Given the description of an element on the screen output the (x, y) to click on. 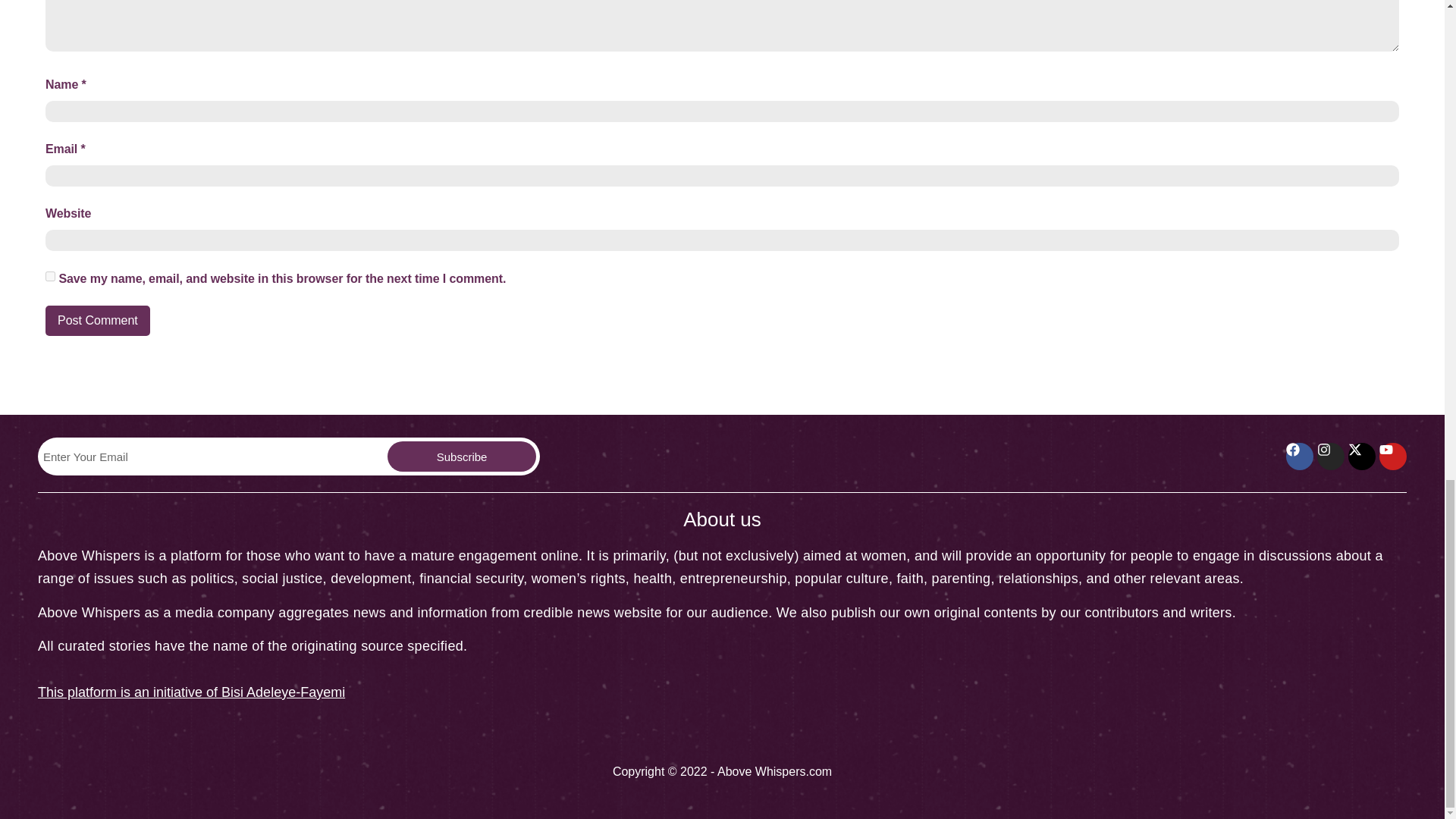
Post Comment (97, 320)
yes (50, 276)
